Given the description of an element on the screen output the (x, y) to click on. 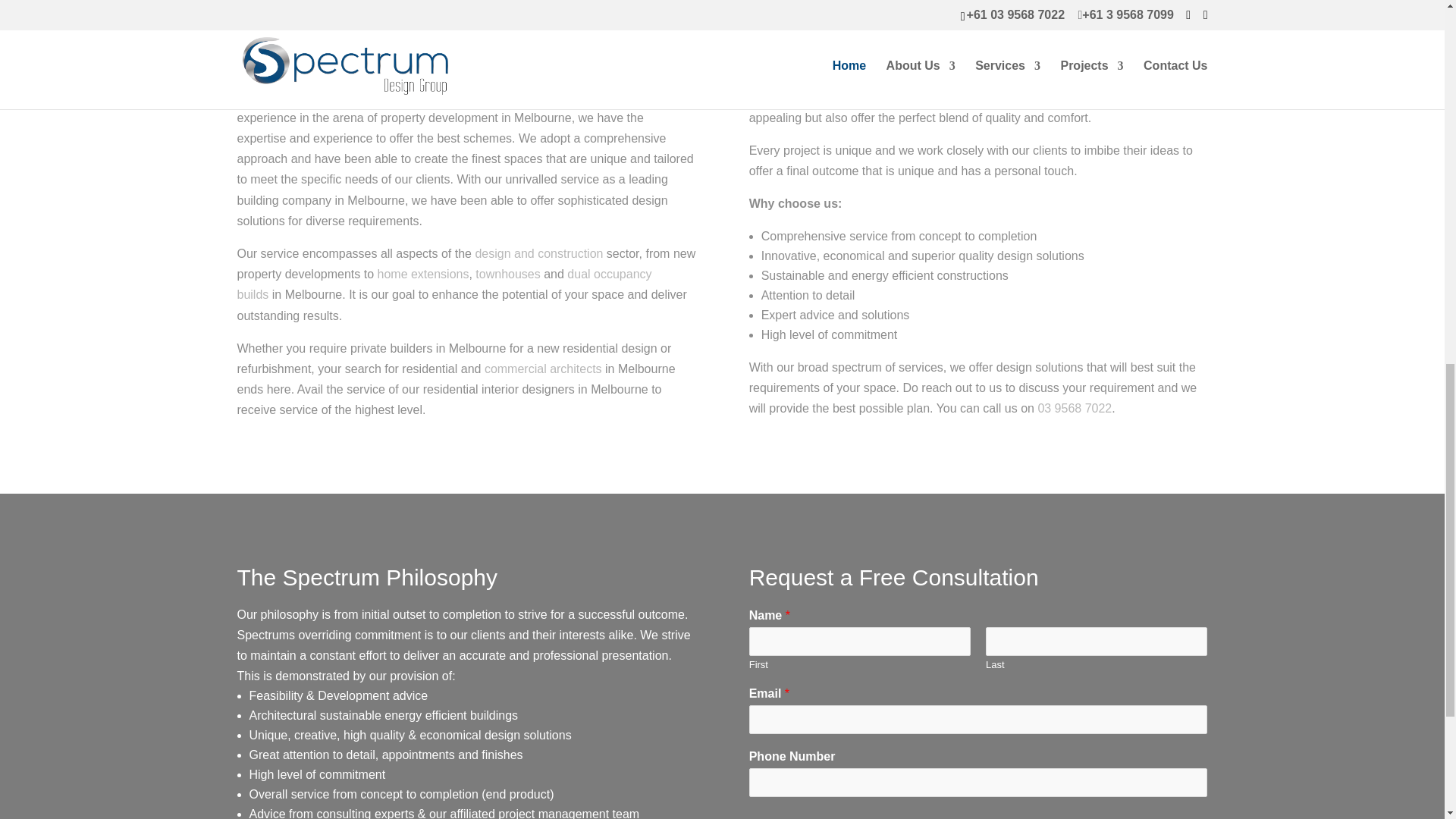
townhouses (508, 273)
dual occupancy builds (442, 284)
home extensions (422, 273)
innovative interior designer (439, 76)
design and construction (538, 253)
